Given the description of an element on the screen output the (x, y) to click on. 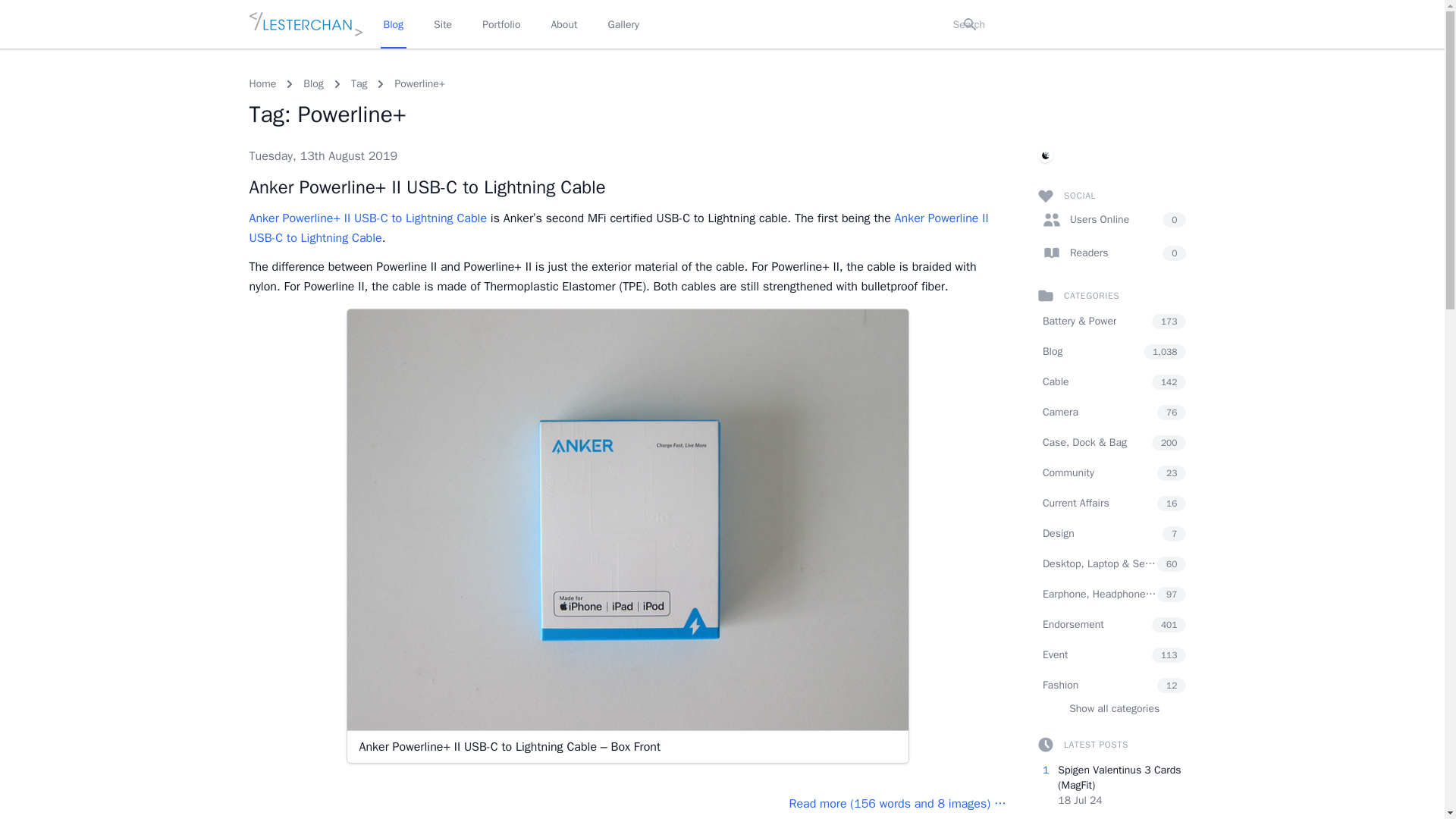
Home (262, 83)
Anker Powerline II USB-C to Lightning Cable (618, 227)
Blog (312, 83)
About (563, 24)
Gallery (623, 24)
Home (262, 83)
Blog (393, 24)
Site (442, 24)
Blog (312, 83)
Portfolio (500, 24)
Lester Chan's Website (304, 24)
